Given the description of an element on the screen output the (x, y) to click on. 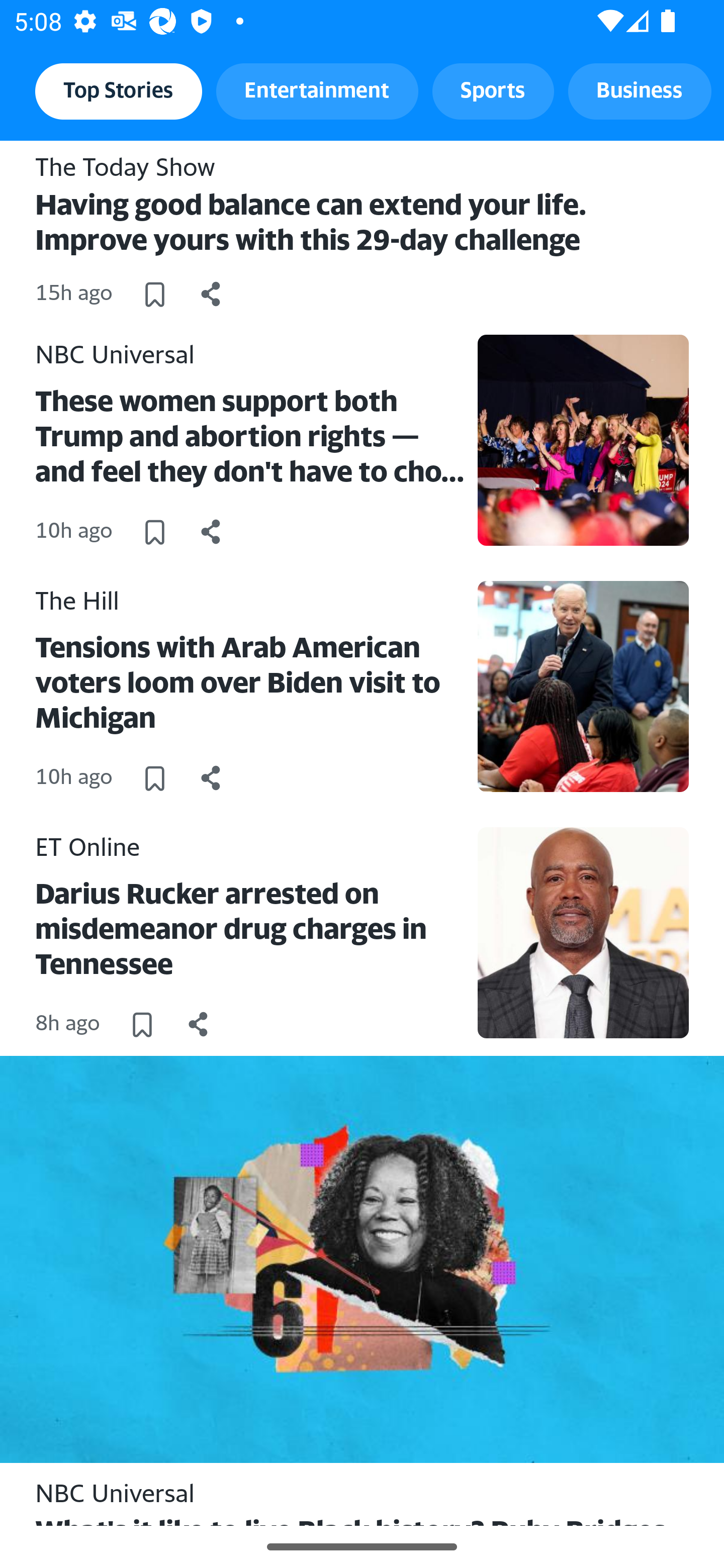
Entertainment (317, 90)
Sports (492, 90)
Business (639, 90)
Save this article (154, 293)
Share this news article (210, 293)
Save this article (154, 531)
Share this news article (210, 531)
Save this article (154, 777)
Share this news article (210, 777)
Save this article (142, 1023)
Share this news article (198, 1023)
